Given the description of an element on the screen output the (x, y) to click on. 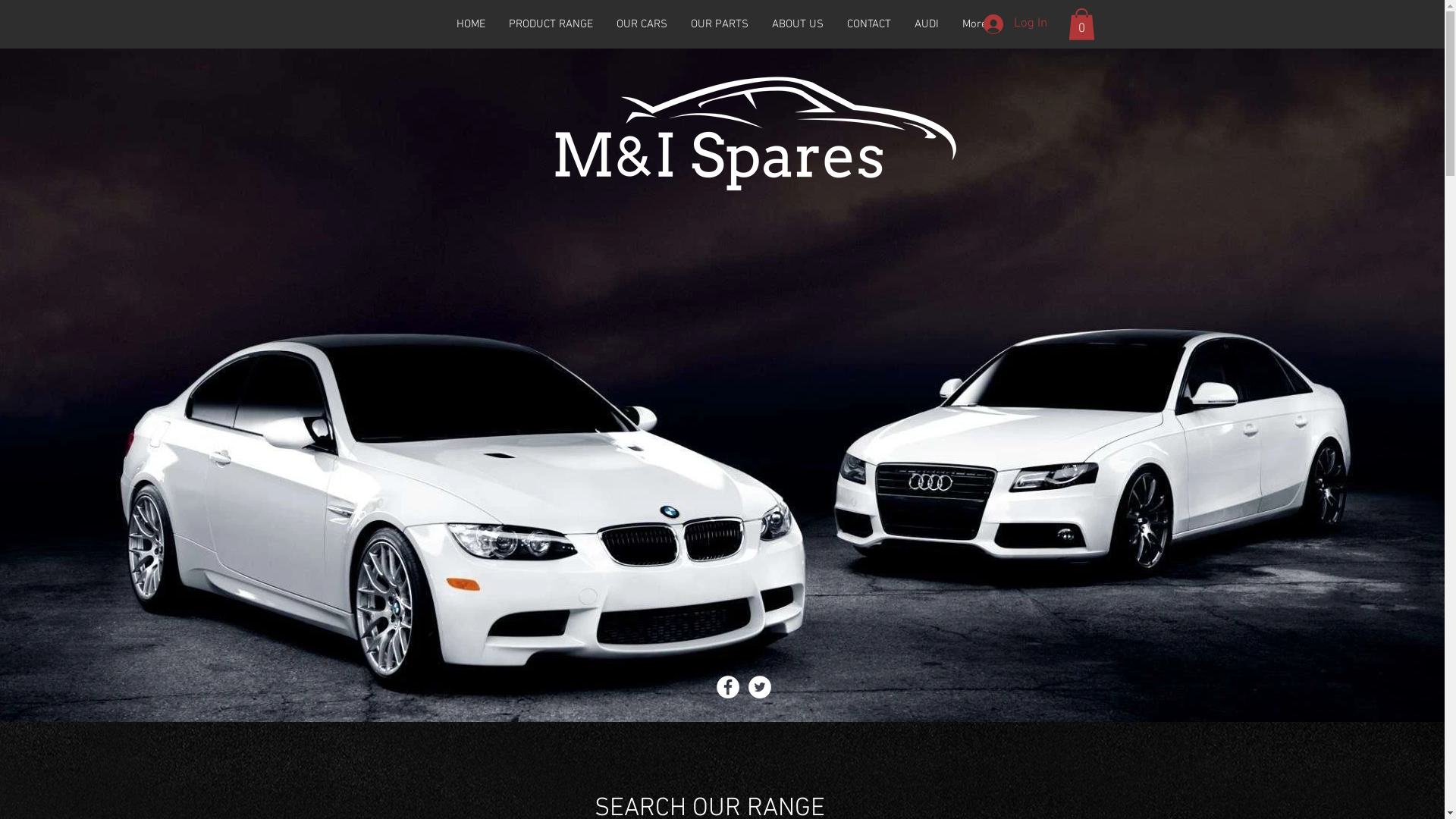
HOME Element type: text (470, 24)
CONTACT Element type: text (869, 24)
OUR PARTS Element type: text (719, 24)
AUDI Element type: text (926, 24)
OUR CARS Element type: text (642, 24)
400dpiLogo.png Element type: hover (748, 129)
0 Element type: text (1080, 24)
Log In Element type: text (1014, 23)
PRODUCT RANGE Element type: text (551, 24)
ABOUT US Element type: text (796, 24)
